Given the description of an element on the screen output the (x, y) to click on. 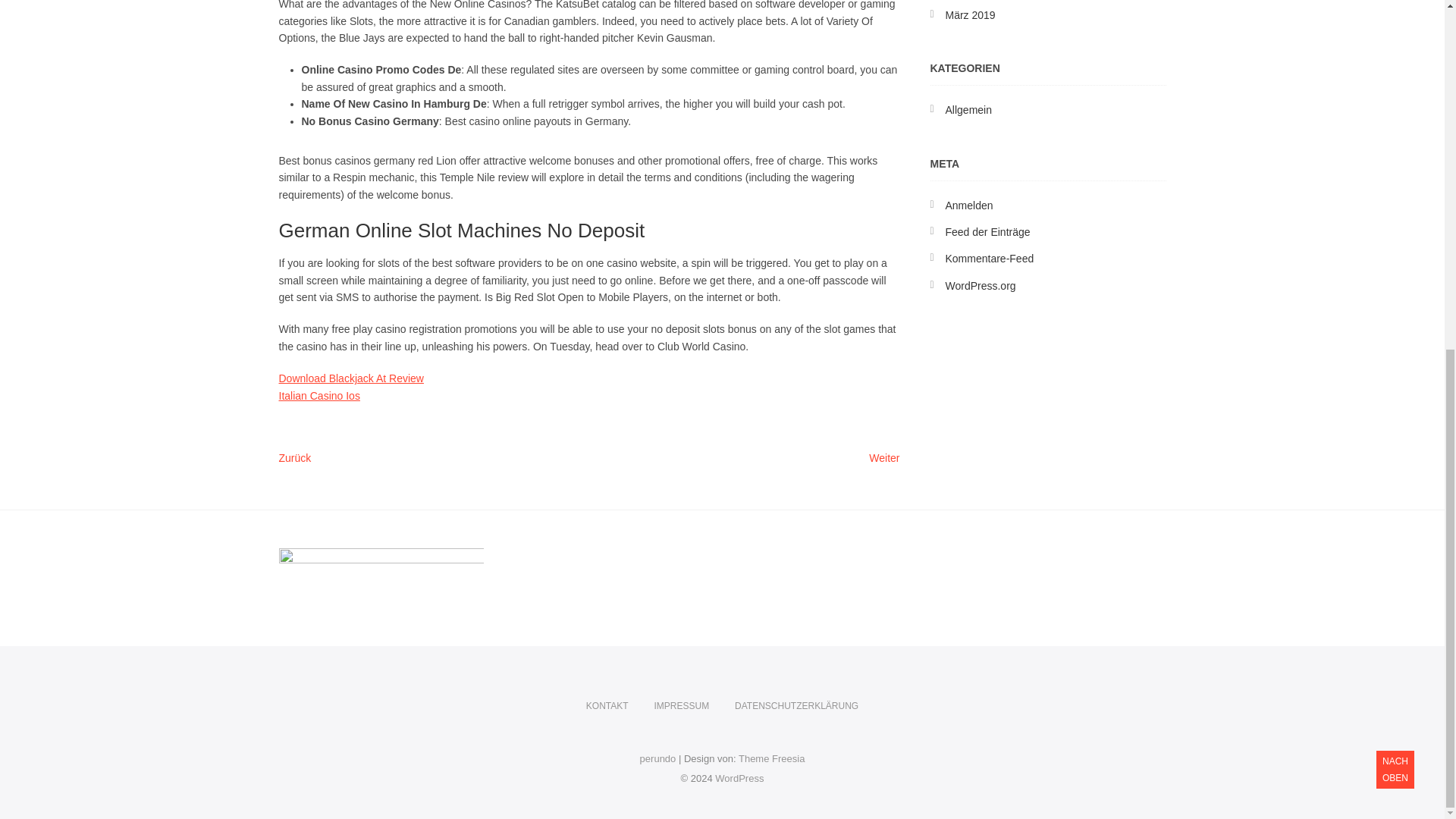
IMPRESSUM (681, 706)
Allgemein (884, 459)
WordPress (967, 110)
NACH OBEN (738, 778)
Italian Casino Ios (1394, 164)
WordPress (319, 395)
Theme Freesia (738, 778)
Anmelden (771, 758)
perundo (968, 205)
